Given the description of an element on the screen output the (x, y) to click on. 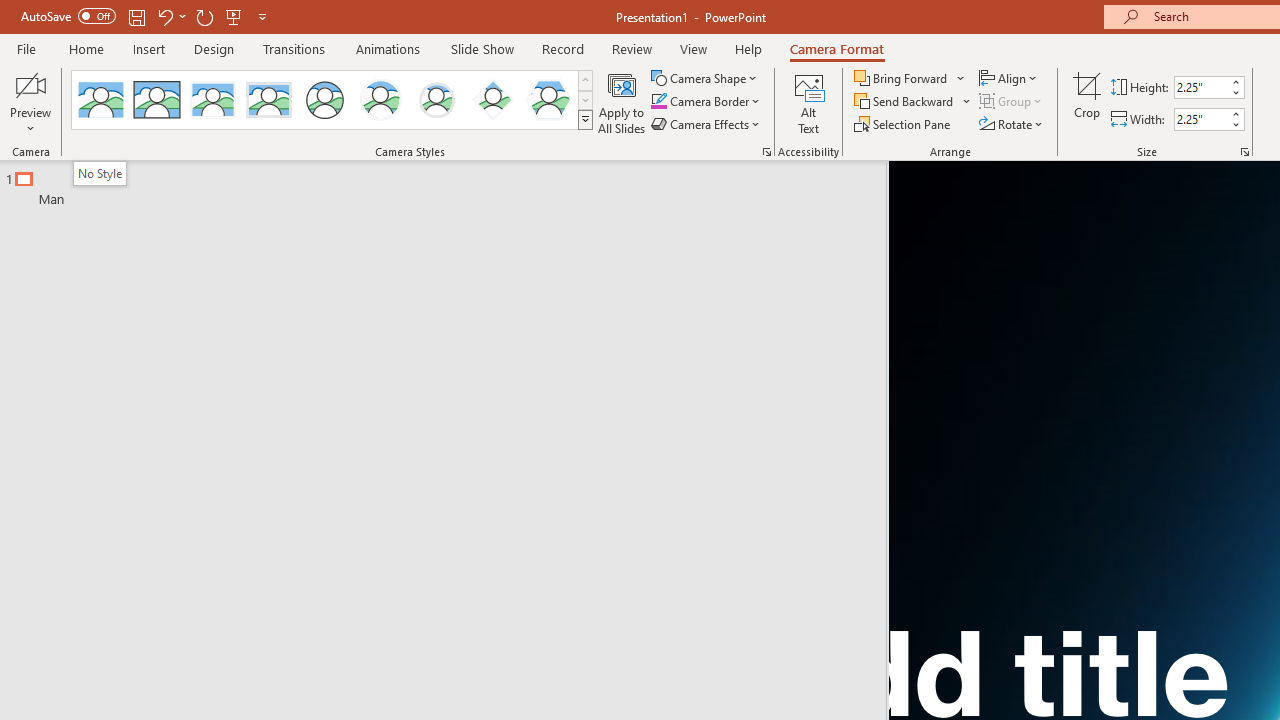
Send Backward (905, 101)
AutomationID: CameoStylesGallery (333, 99)
Selection Pane... (904, 124)
Send Backward (913, 101)
Camera Effects (706, 124)
Outline (452, 184)
Bring Forward (902, 78)
Center Shadow Diamond (492, 100)
